Given the description of an element on the screen output the (x, y) to click on. 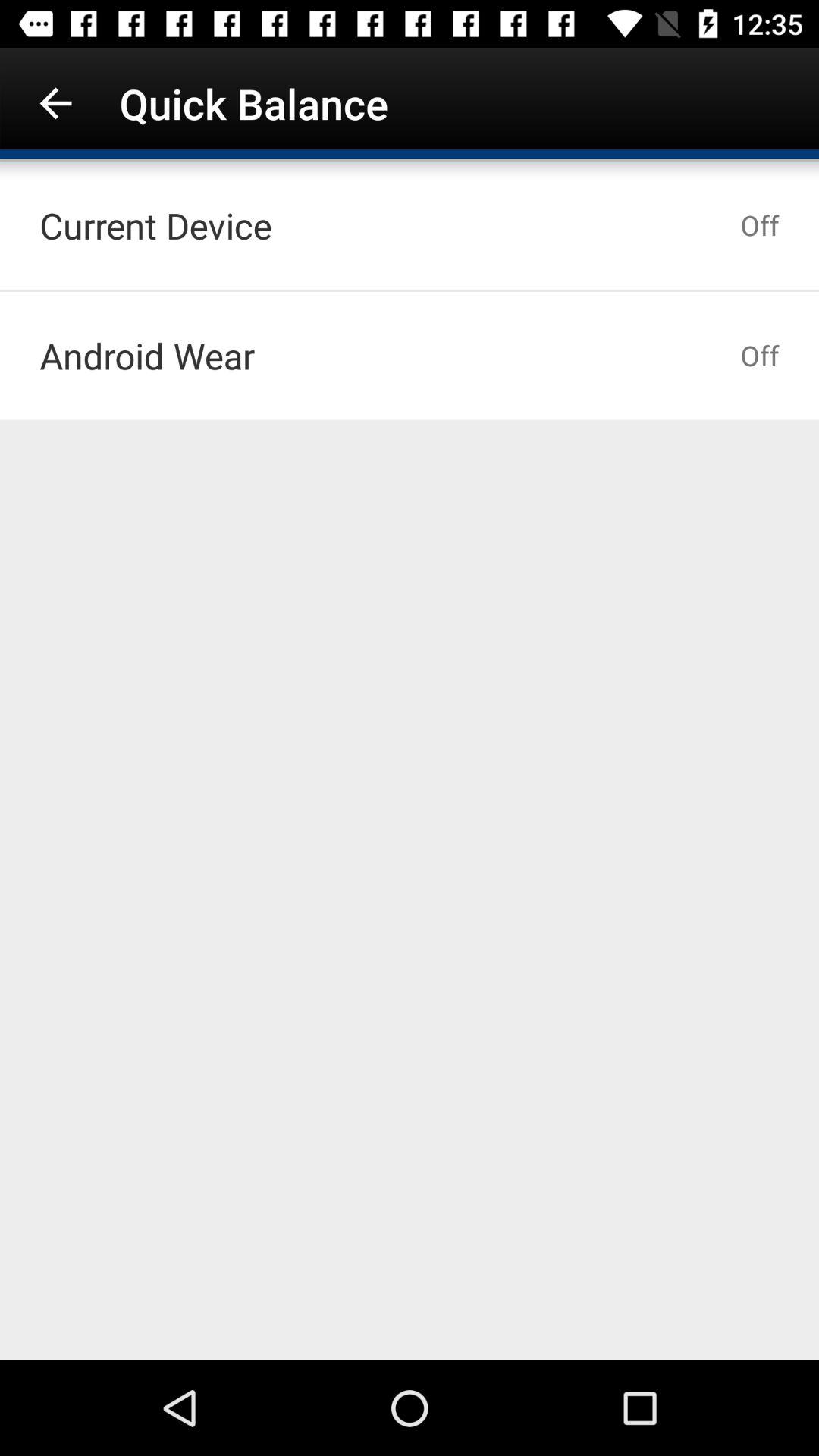
launch the app to the left of quick balance (55, 103)
